Given the description of an element on the screen output the (x, y) to click on. 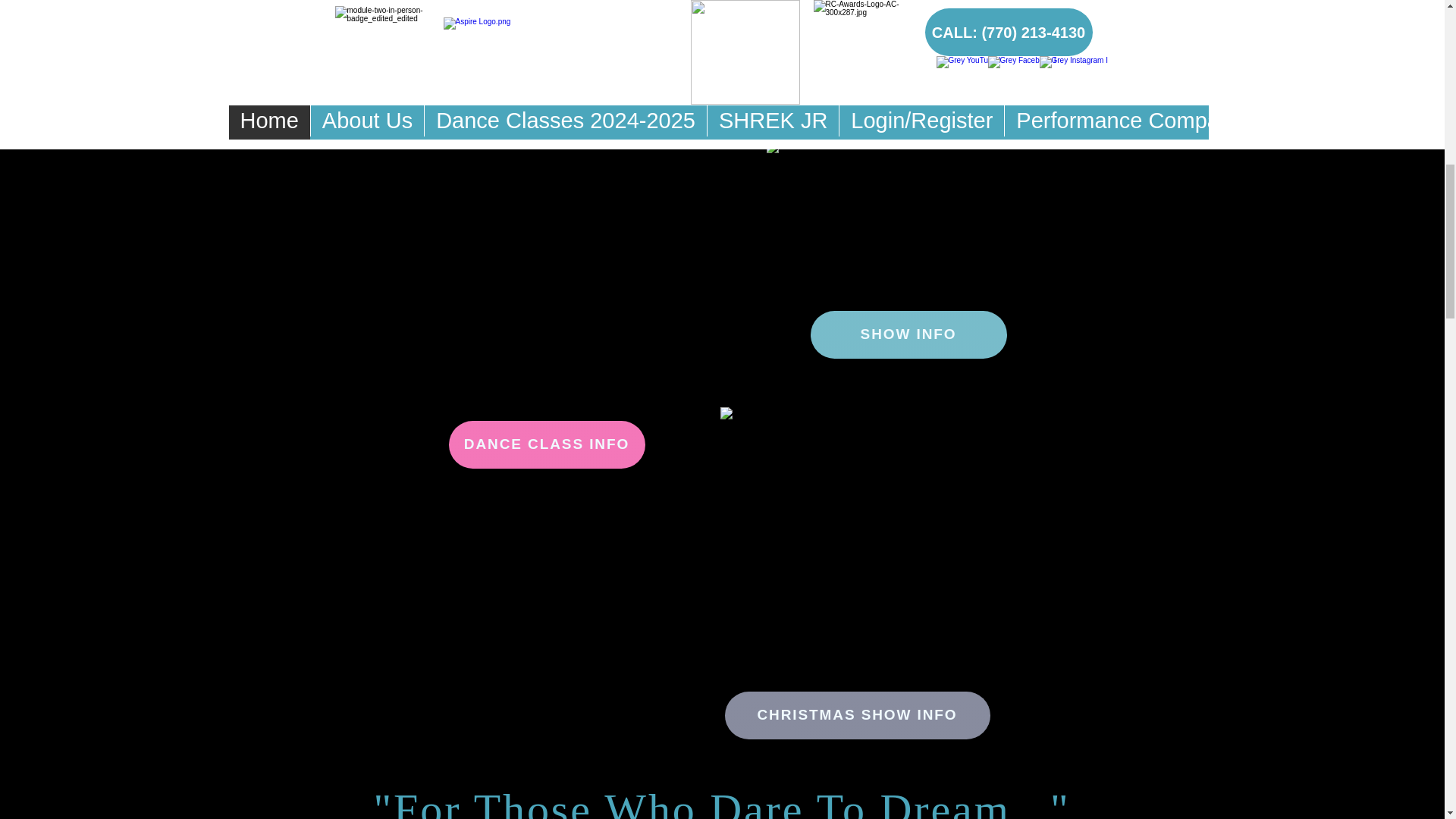
DANCE CLASS INFO (546, 444)
CHRISTMAS SHOW INFO (857, 715)
SHOW INFO (907, 334)
